Given the description of an element on the screen output the (x, y) to click on. 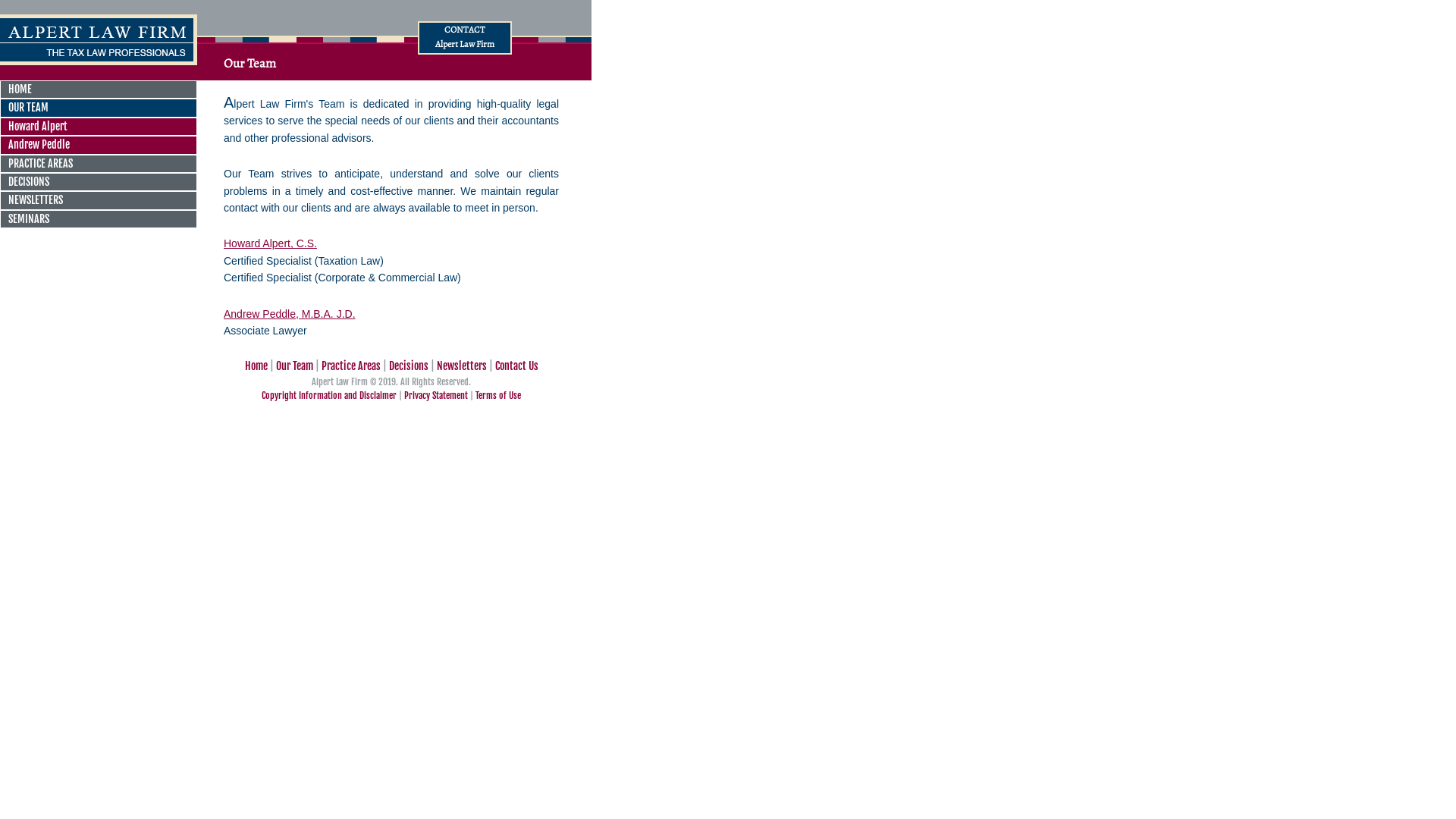
Decisions Element type: text (407, 365)
Practice Areas Element type: text (350, 365)
OUR TEAM Element type: text (98, 107)
NEWSLETTERS Element type: text (98, 199)
Our Team Element type: text (294, 365)
Privacy Statement Element type: text (435, 395)
Contact Us Element type: text (515, 365)
Copyright Information and Disclaimer Element type: text (328, 395)
Newsletters Element type: text (461, 365)
Howard Alpert Element type: text (98, 126)
PRACTICE AREAS Element type: text (98, 163)
DECISIONS Element type: text (98, 181)
Howard Alpert, C.S. Element type: text (269, 243)
Terms of Use Element type: text (497, 395)
SEMINARS Element type: text (98, 218)
Home Element type: text (255, 365)
HOME Element type: text (98, 89)
CONTACT
Alpert Law Firm Element type: text (464, 36)
Andrew Peddle Element type: text (98, 144)
Andrew Peddle, M.B.A. J.D. Element type: text (289, 313)
